Given the description of an element on the screen output the (x, y) to click on. 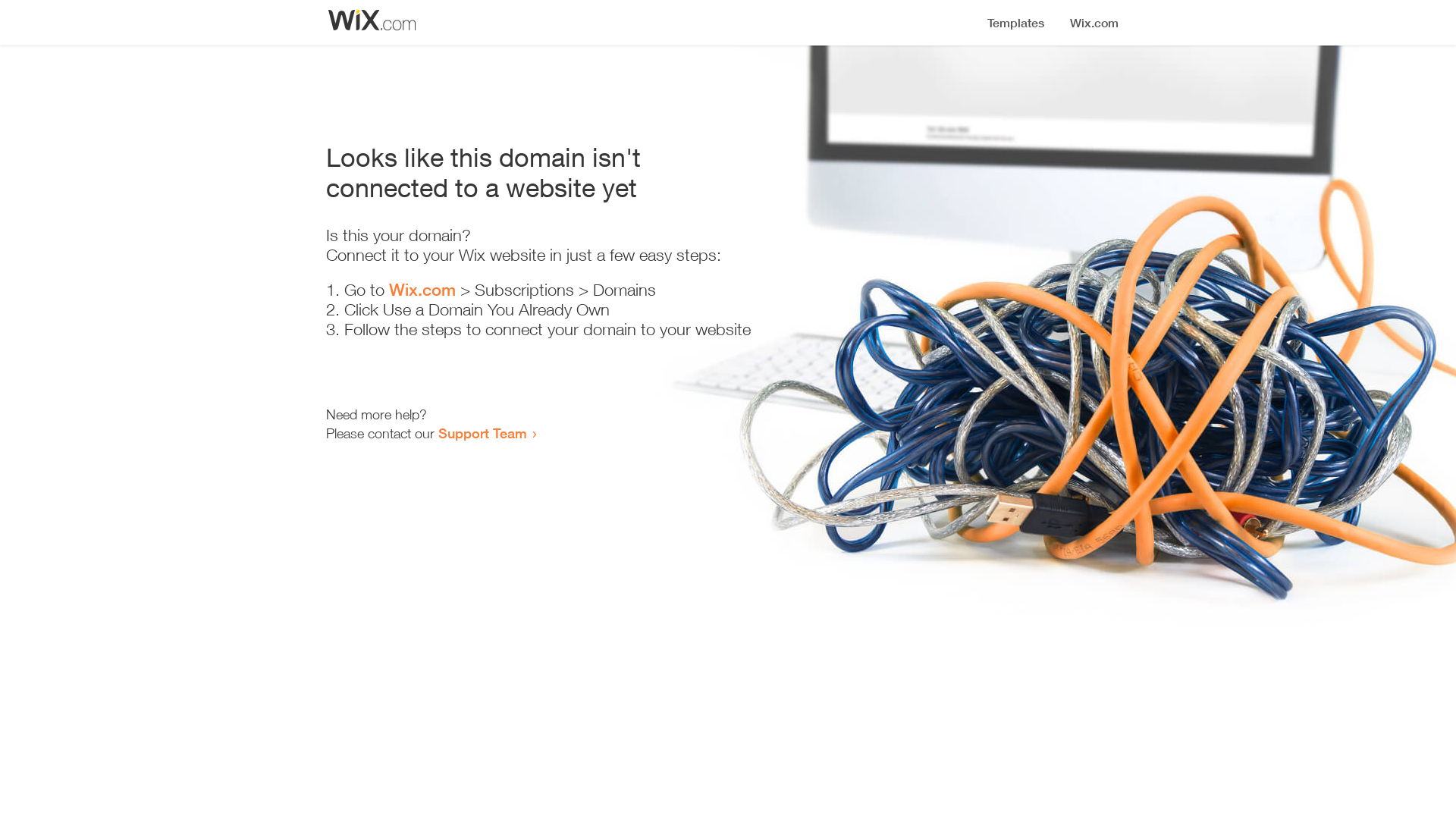
Support Team Element type: text (482, 432)
Wix.com Element type: text (422, 289)
